Given the description of an element on the screen output the (x, y) to click on. 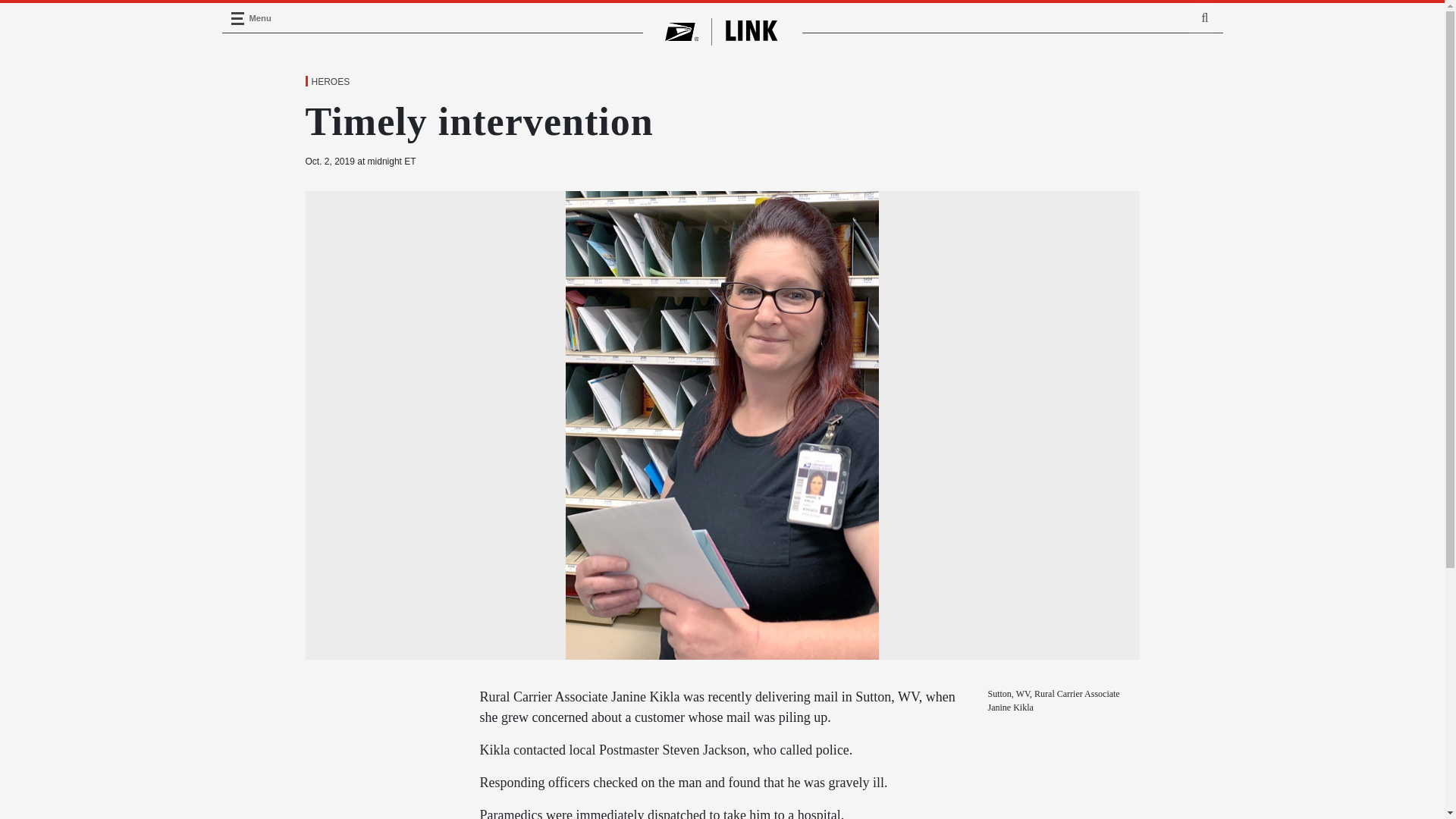
HEROES (329, 81)
Menu (237, 18)
